Given the description of an element on the screen output the (x, y) to click on. 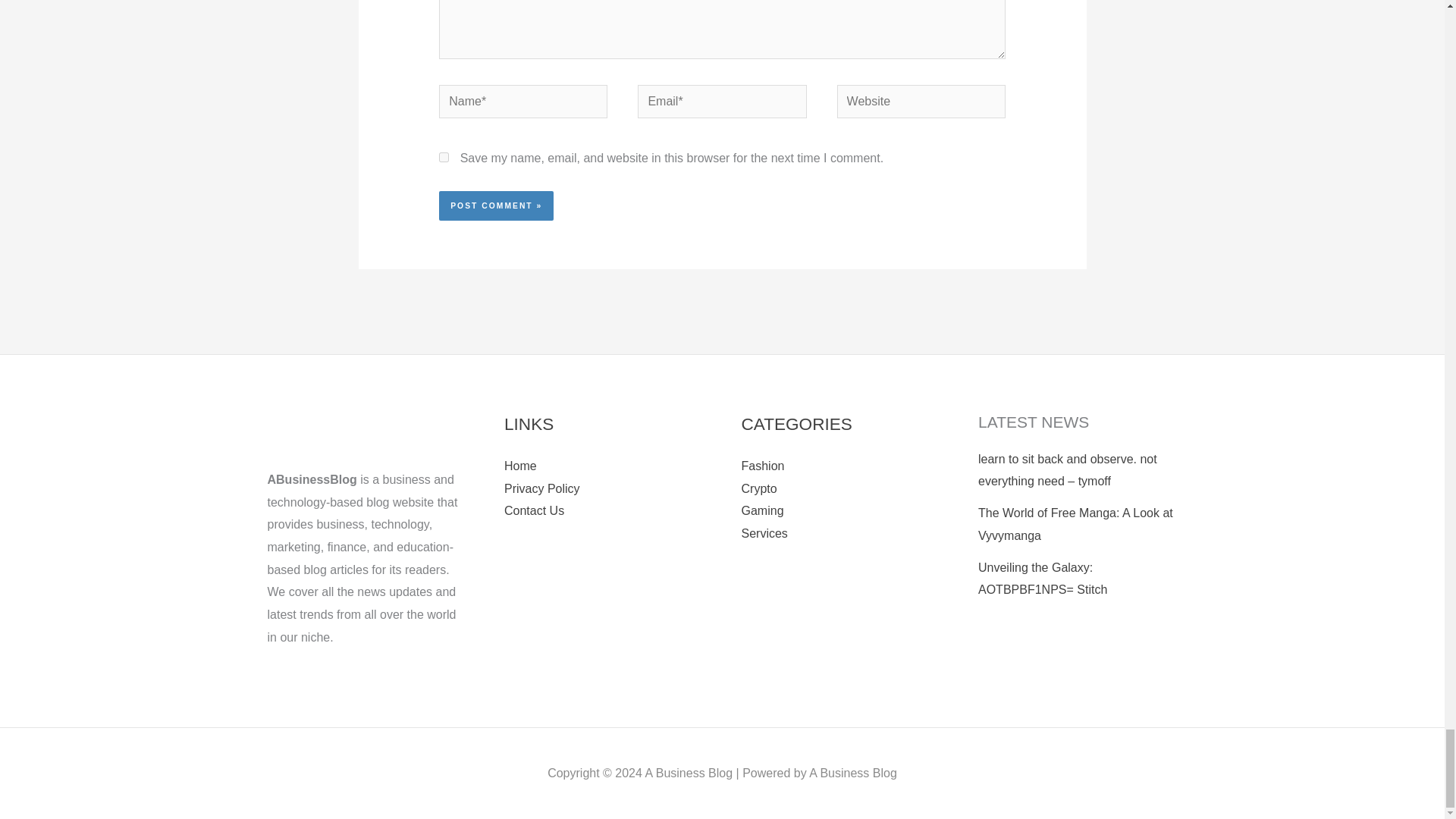
Home (520, 465)
Gaming (762, 510)
Privacy Policy (541, 488)
Contact Us (533, 510)
yes (443, 157)
Fashion (762, 465)
Services (764, 533)
Crypto (759, 488)
